Given the description of an element on the screen output the (x, y) to click on. 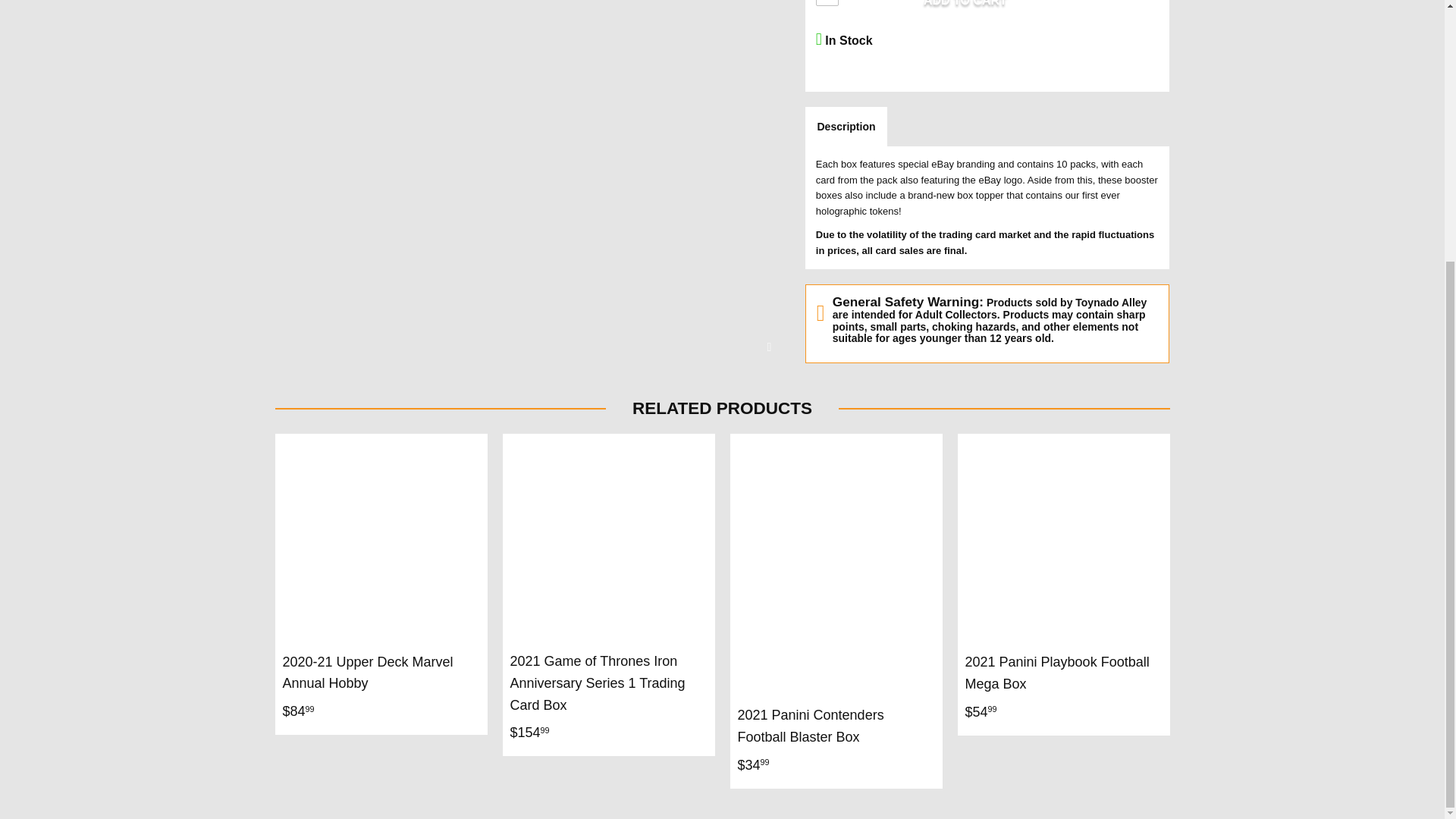
1 (826, 2)
